Given the description of an element on the screen output the (x, y) to click on. 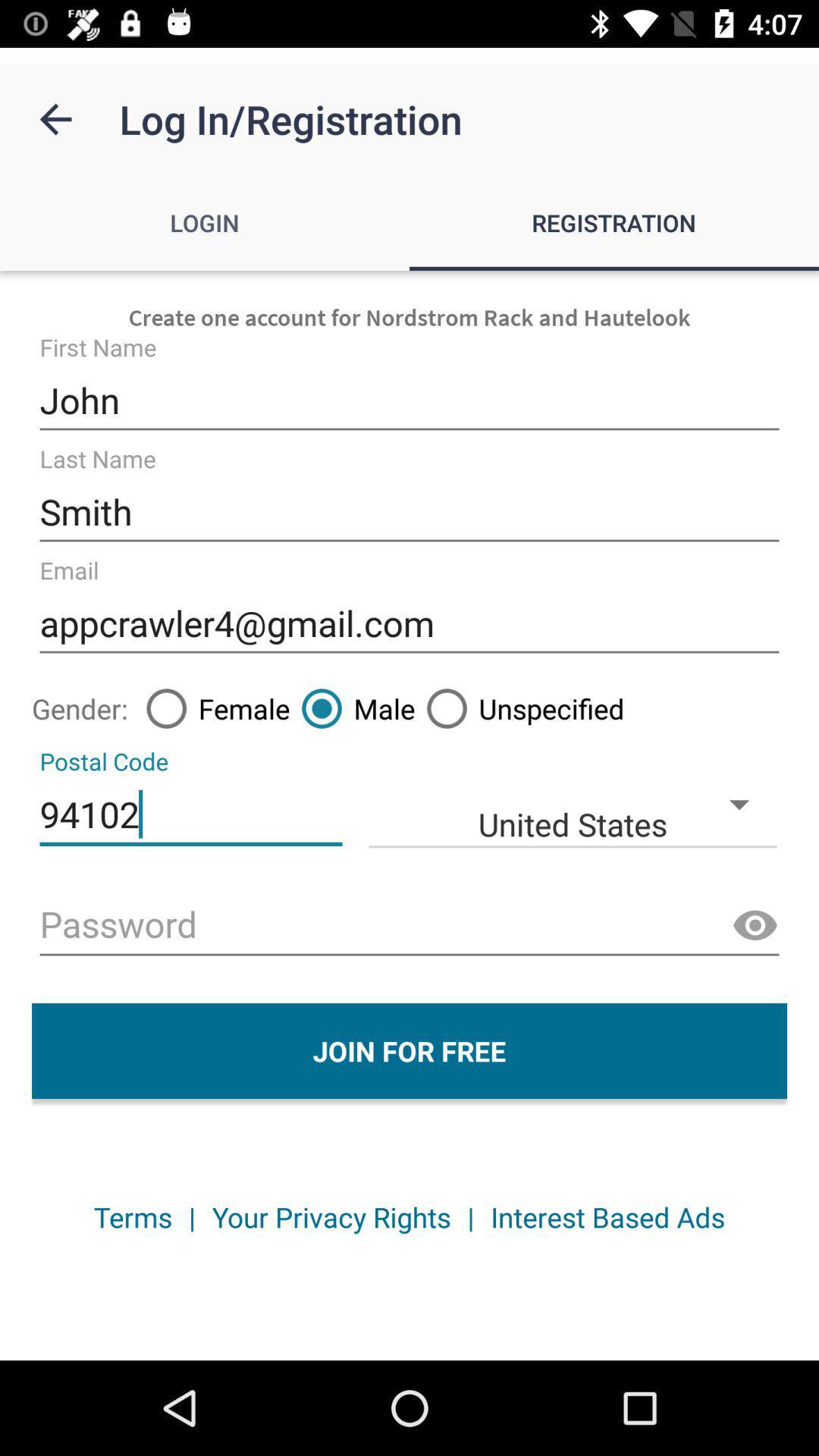
enter password (409, 926)
